Given the description of an element on the screen output the (x, y) to click on. 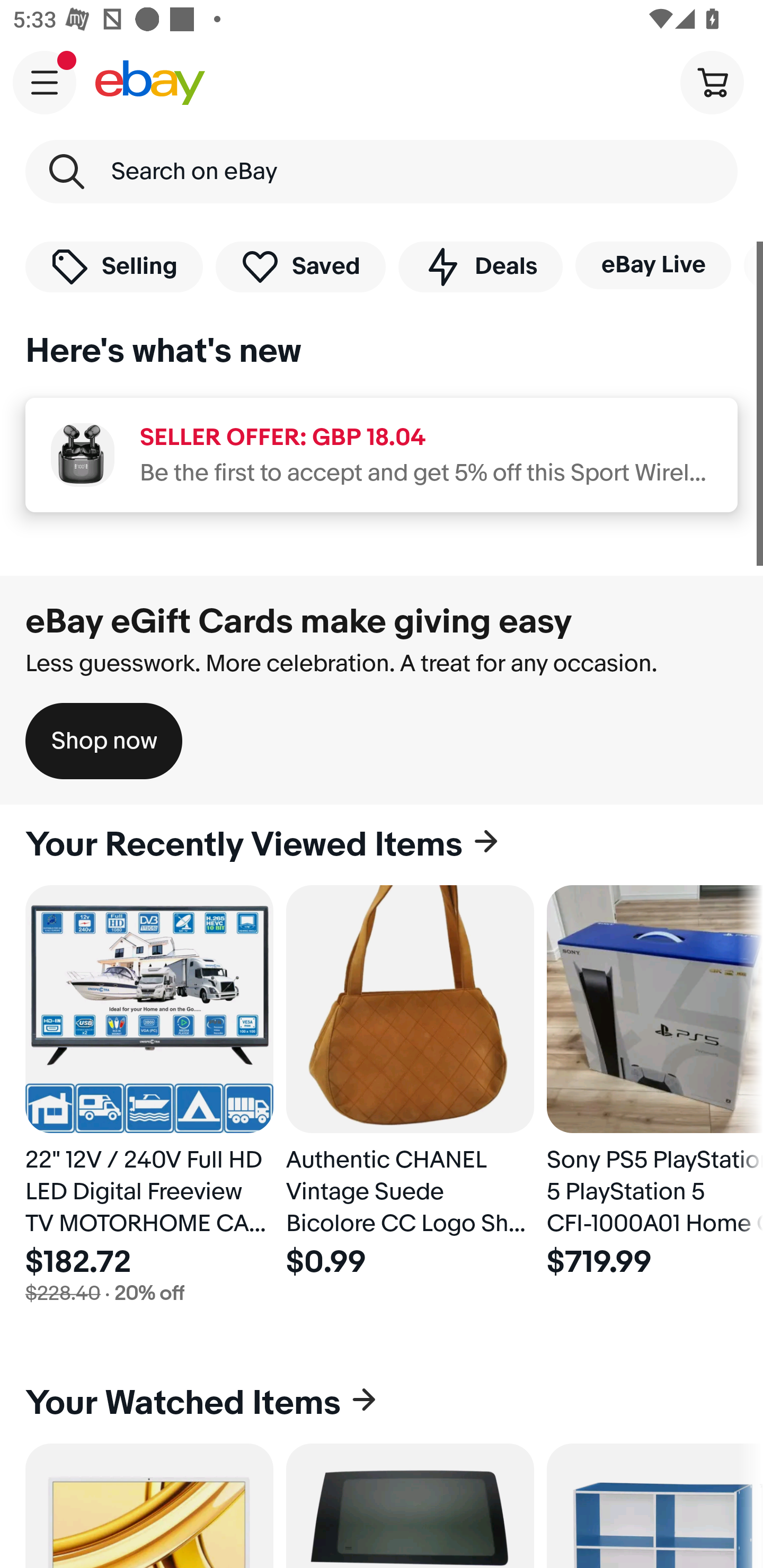
Main navigation, notification is pending, open (44, 82)
Cart button shopping cart (711, 81)
Search on eBay Search Keyword Search on eBay (381, 171)
Selling (113, 266)
Saved (300, 266)
Deals (480, 266)
eBay Live (652, 264)
eBay eGift Cards make giving easy (298, 621)
Shop now (103, 740)
Your Recently Viewed Items   (381, 844)
Your Watched Items   (381, 1403)
